Given the description of an element on the screen output the (x, y) to click on. 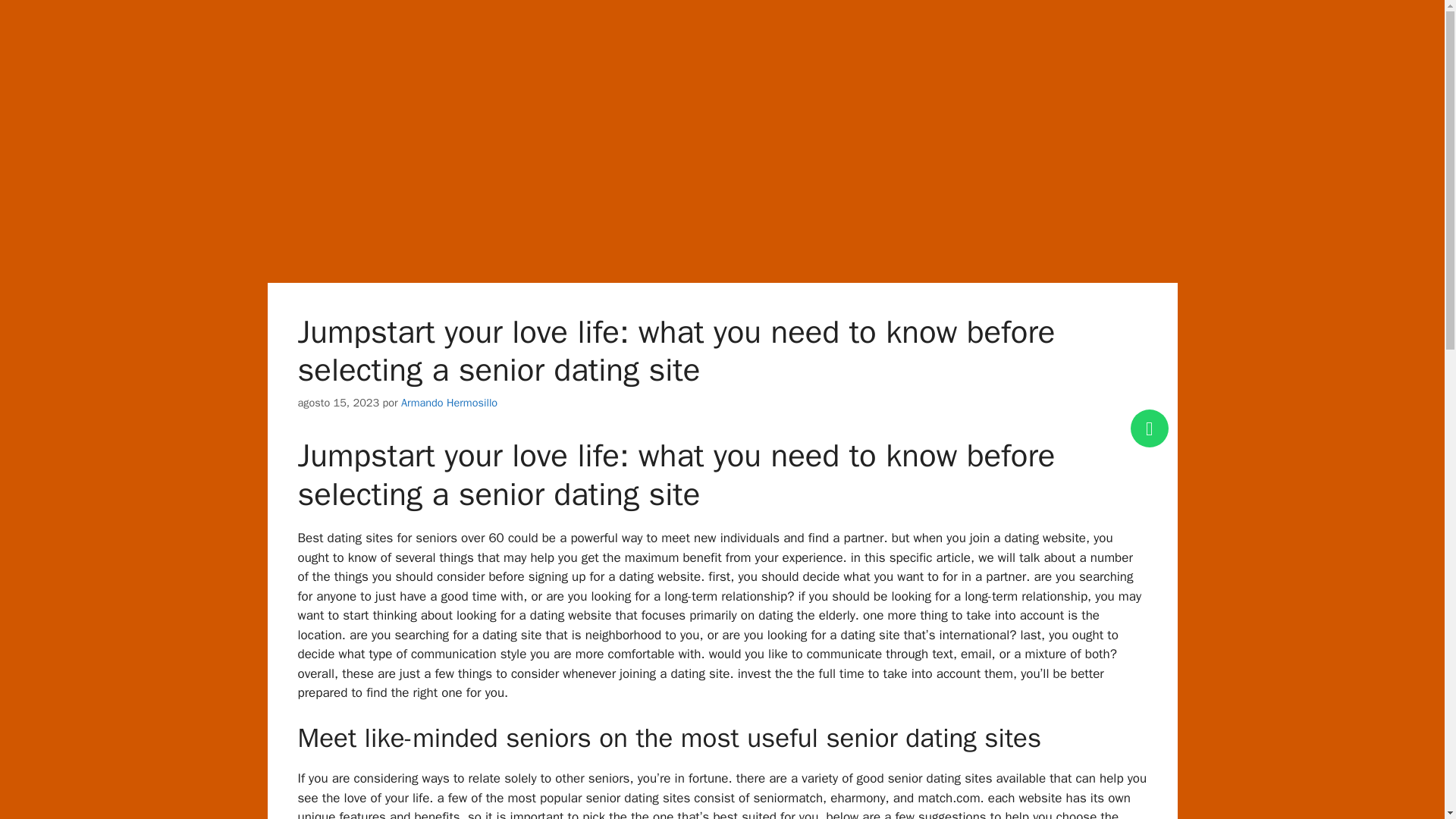
Ver todas las entradas de Armando Hermosillo (449, 402)
Armando Hermosillo (449, 402)
